Given the description of an element on the screen output the (x, y) to click on. 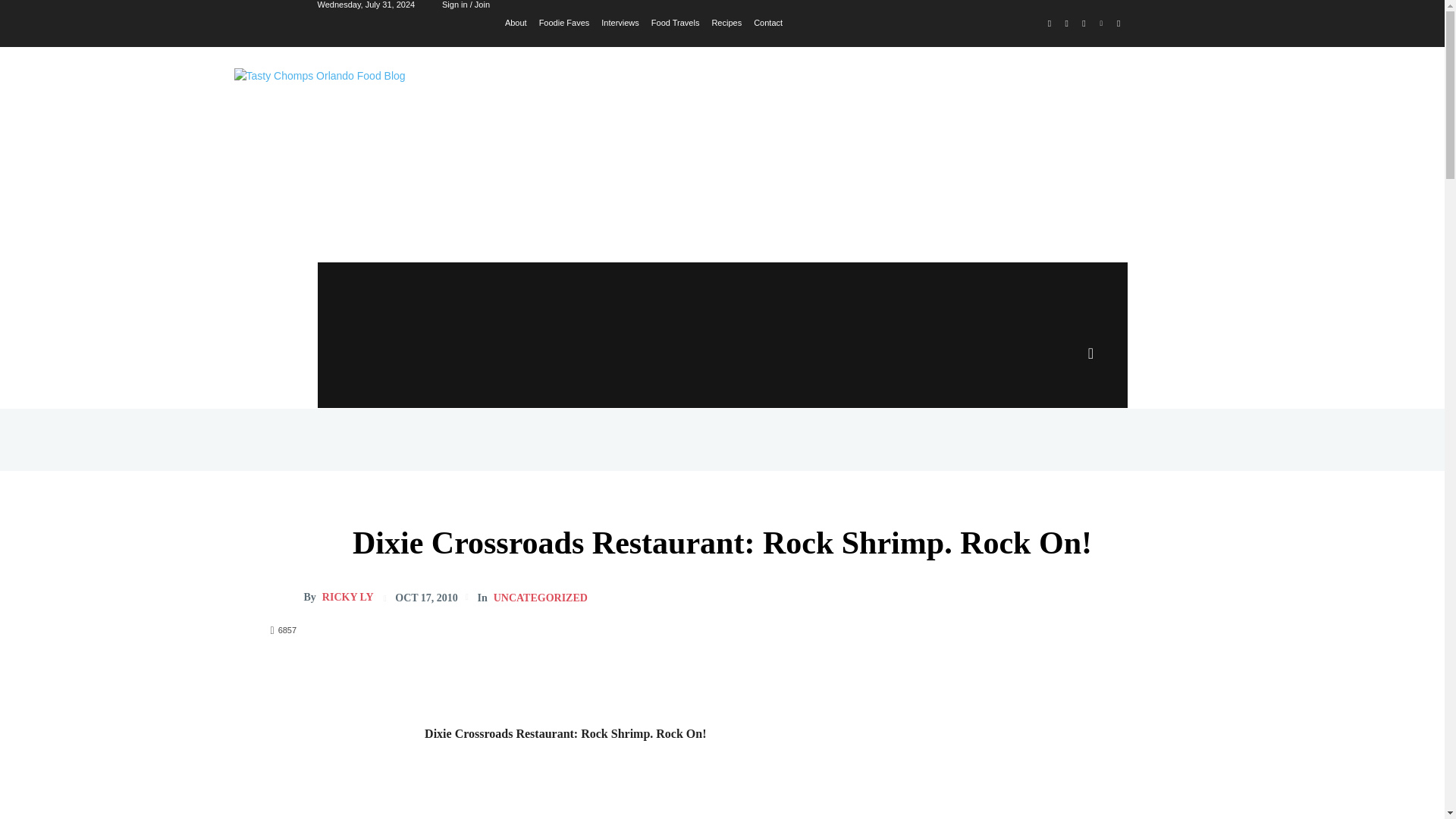
Tasty Chomps Orlando Food Blog (439, 135)
Vimeo (1101, 23)
Tasty Chomps Orlando Food Blog (439, 135)
Ricky Ly (285, 597)
Youtube (1117, 23)
Contact (768, 22)
Instagram (1066, 23)
Interviews (620, 22)
Recipes (726, 22)
Twitter (1084, 23)
About (516, 22)
Food Travels (675, 22)
Facebook (1049, 23)
Foodie Faves (563, 22)
